Given the description of an element on the screen output the (x, y) to click on. 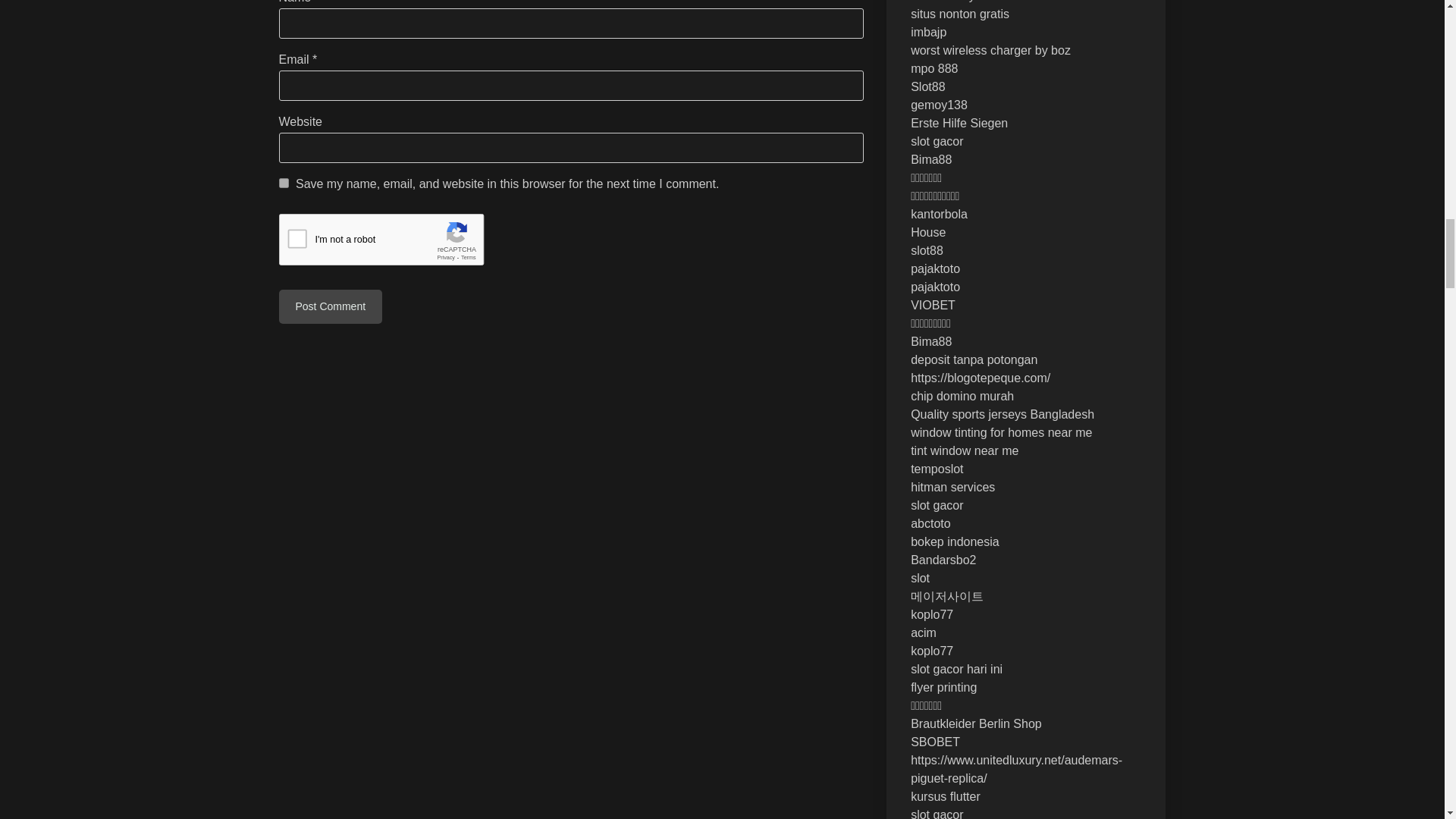
Post Comment (330, 306)
Post Comment (330, 306)
reCAPTCHA (394, 241)
yes (283, 183)
